Given the description of an element on the screen output the (x, y) to click on. 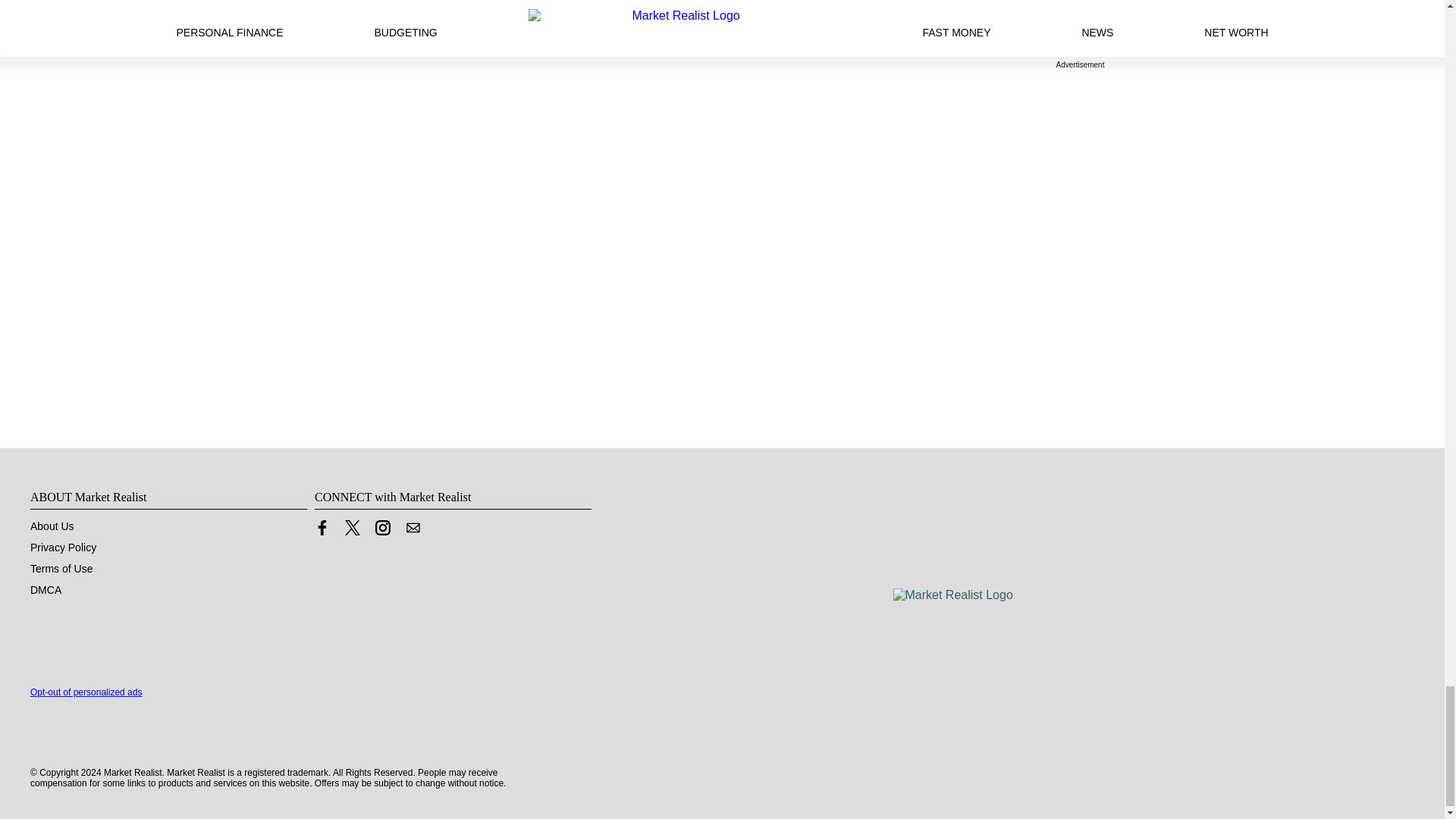
Link to Instagram (382, 531)
Contact us by Email (413, 527)
Privacy Policy (63, 547)
Link to X (352, 531)
DMCA (45, 589)
Link to Facebook (322, 527)
Privacy Policy (63, 547)
Opt-out of personalized ads (85, 692)
About Us (52, 526)
Terms of Use (61, 568)
About Us (52, 526)
Link to Facebook (322, 531)
Link to X (352, 527)
DMCA (45, 589)
Link to Instagram (382, 527)
